Given the description of an element on the screen output the (x, y) to click on. 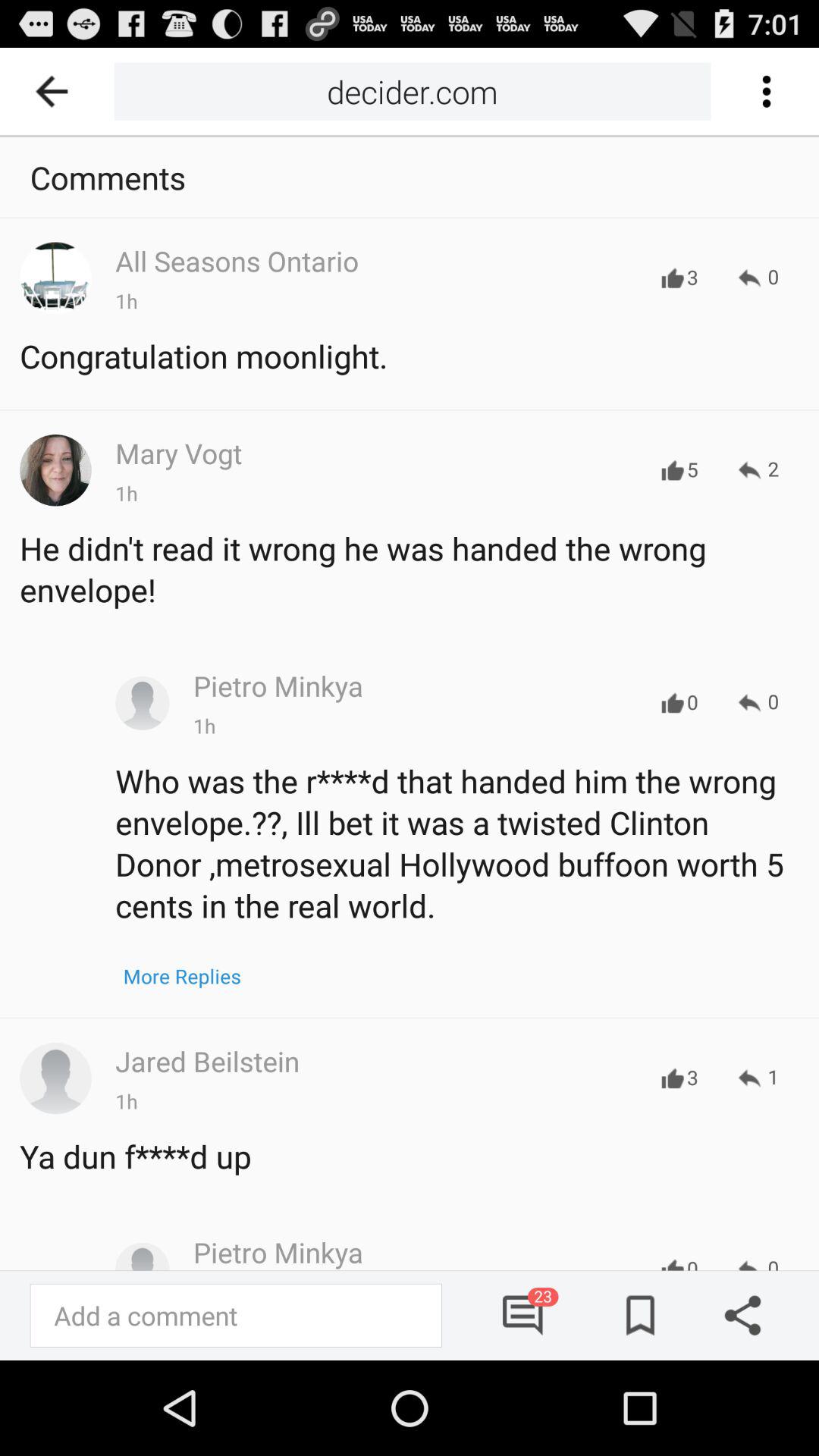
bookmark article (635, 1315)
